Given the description of an element on the screen output the (x, y) to click on. 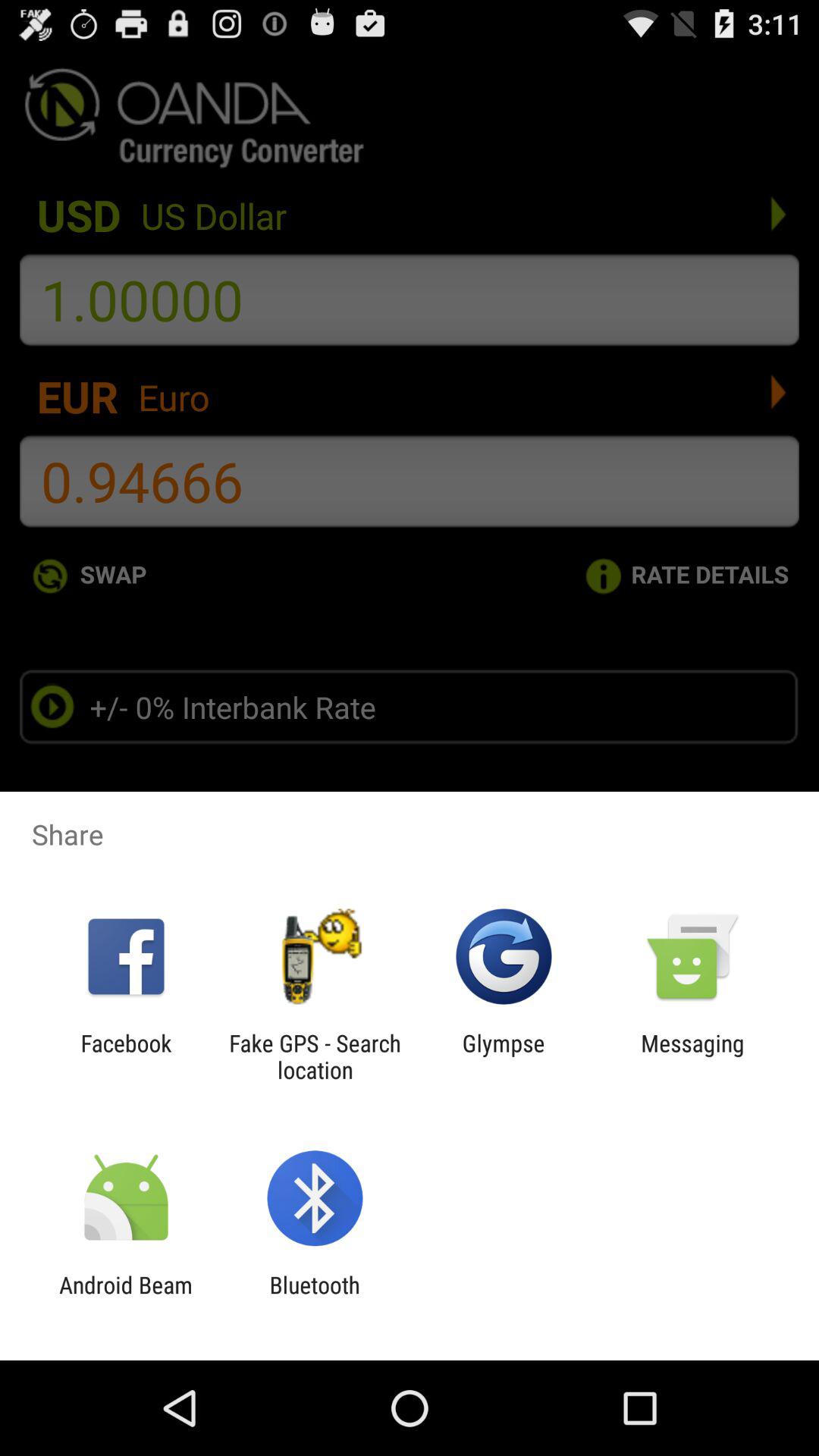
turn on the bluetooth icon (314, 1298)
